Given the description of an element on the screen output the (x, y) to click on. 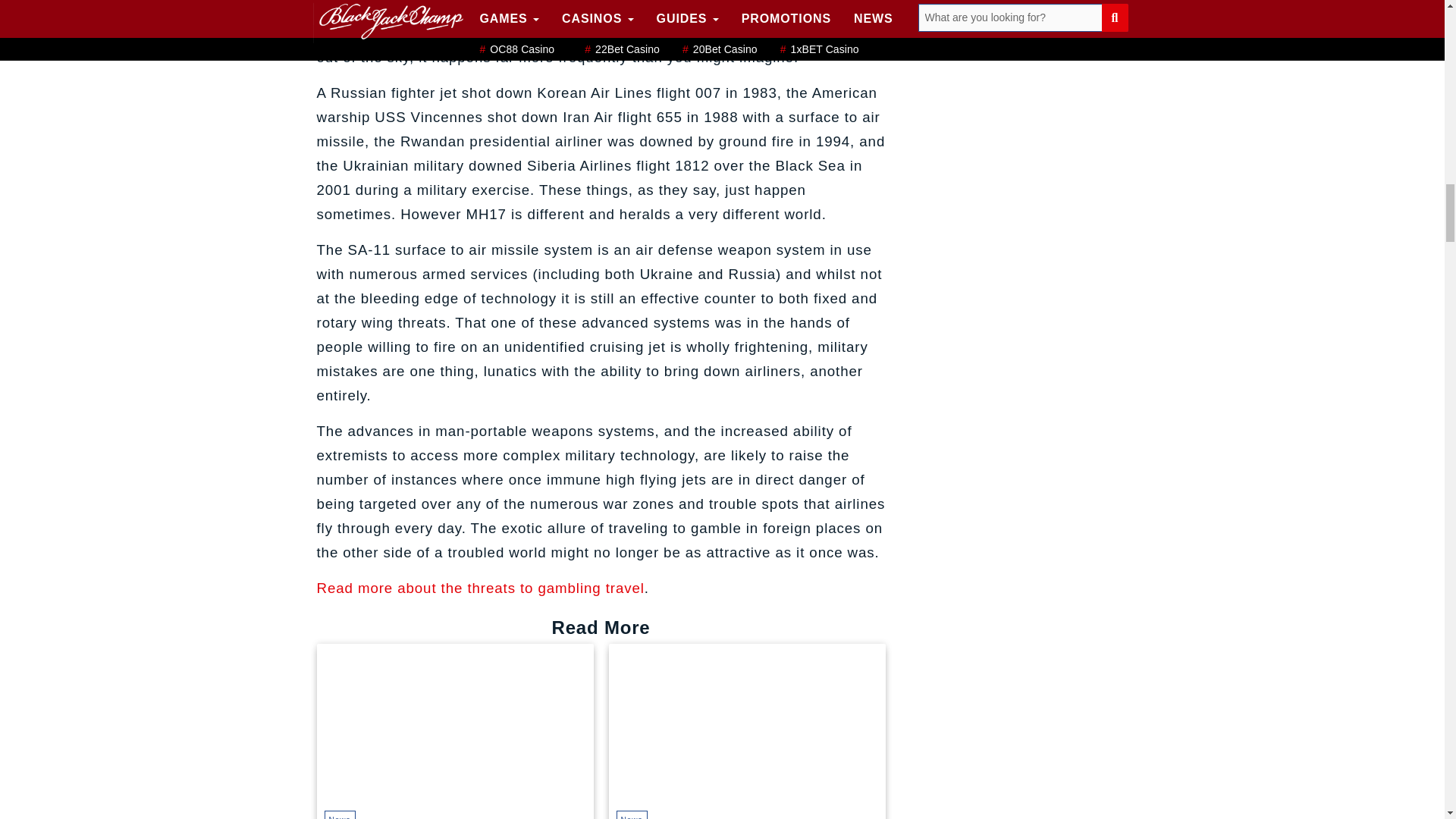
Read more about the threats to gambling travel (481, 587)
News (339, 814)
